Given the description of an element on the screen output the (x, y) to click on. 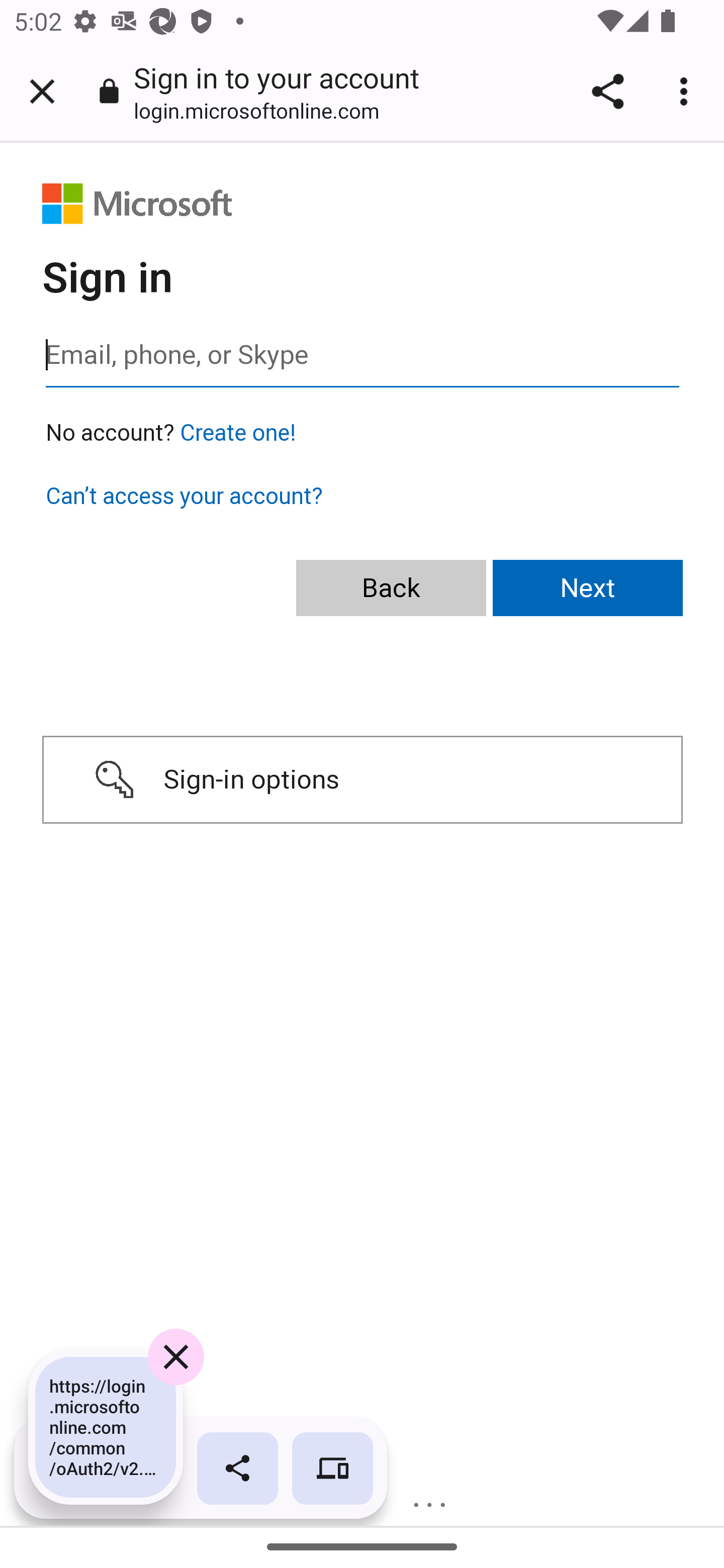
Close tab (42, 91)
Share (607, 91)
More options (687, 91)
Connection is secure (108, 90)
login.microsoftonline.com (263, 109)
Create a Microsoft account Create one! (237, 432)
Can’t access your account? (184, 495)
Back (391, 588)
Next (588, 588)
Sign-in options (361, 779)
Click here for troubleshooting information (432, 1497)
